Given the description of an element on the screen output the (x, y) to click on. 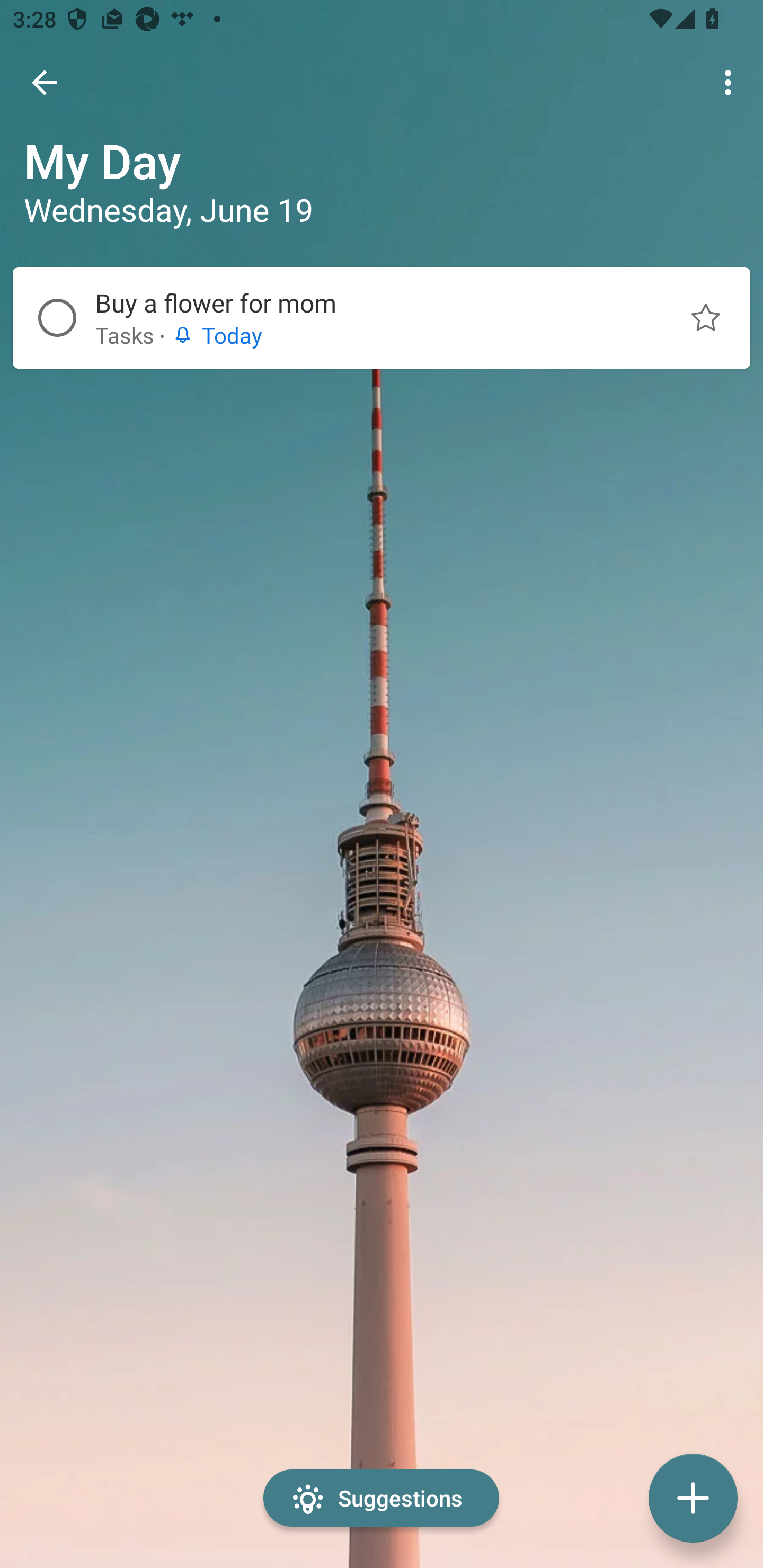
Back (44, 82)
